Given the description of an element on the screen output the (x, y) to click on. 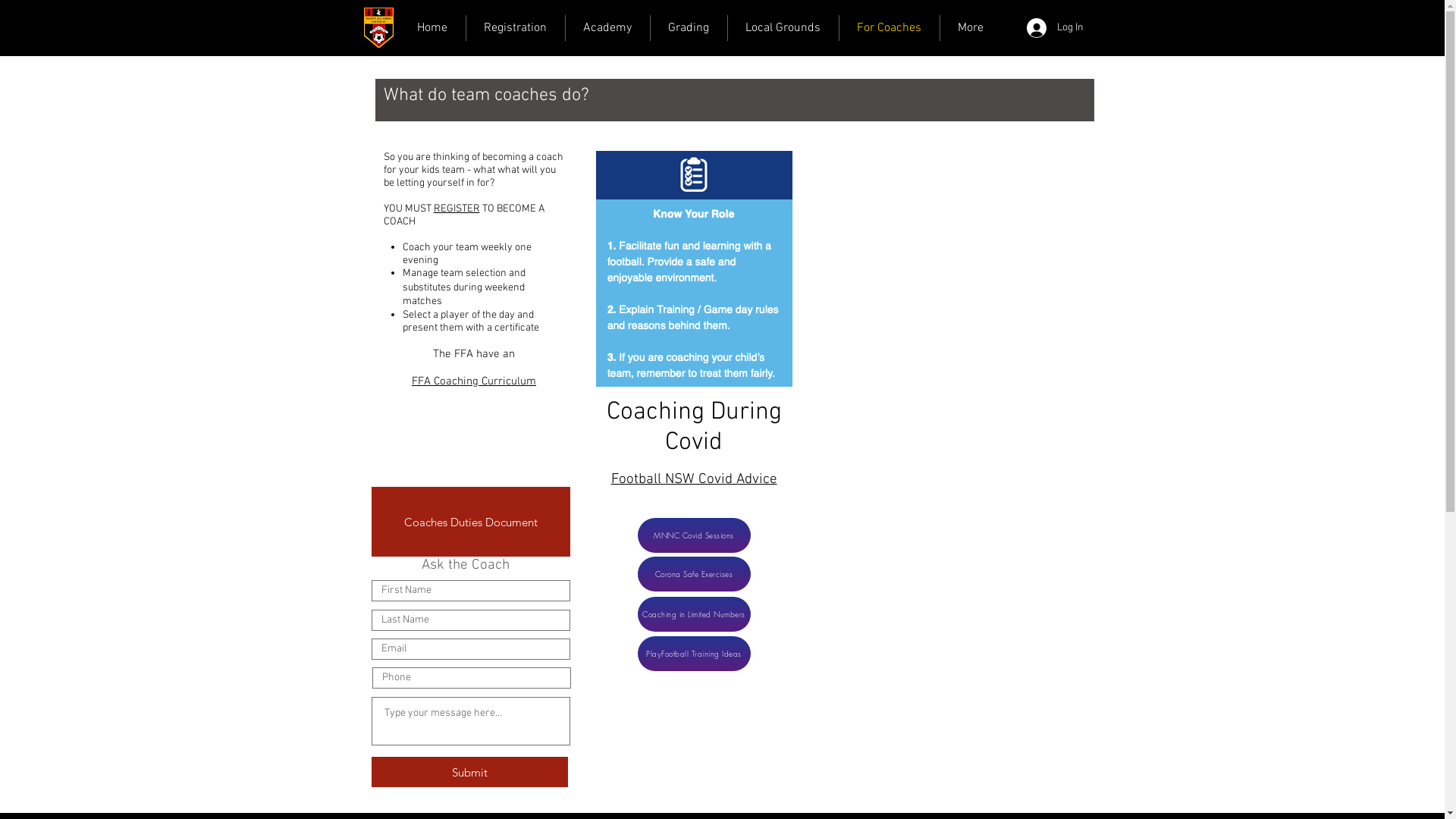
FFA Coaching Curriculum Element type: text (473, 381)
Coaches Duties Document Element type: text (470, 521)
Log In Element type: text (1055, 27)
Grading Element type: text (688, 27)
Academy Element type: text (607, 27)
Home Element type: text (431, 27)
Local Grounds Element type: text (783, 27)
For Coaches Element type: text (888, 27)
Coaching in Limited Numbers Element type: text (693, 613)
Submit Element type: text (469, 771)
Football NSW Covid Advice Element type: text (694, 479)
MNNC Covid Sessions Element type: text (693, 534)
Corona Safe Exercises Element type: text (693, 573)
REGISTER Element type: text (456, 208)
Registration Element type: text (514, 27)
PlayFootball Training Ideas Element type: text (693, 653)
